Given the description of an element on the screen output the (x, y) to click on. 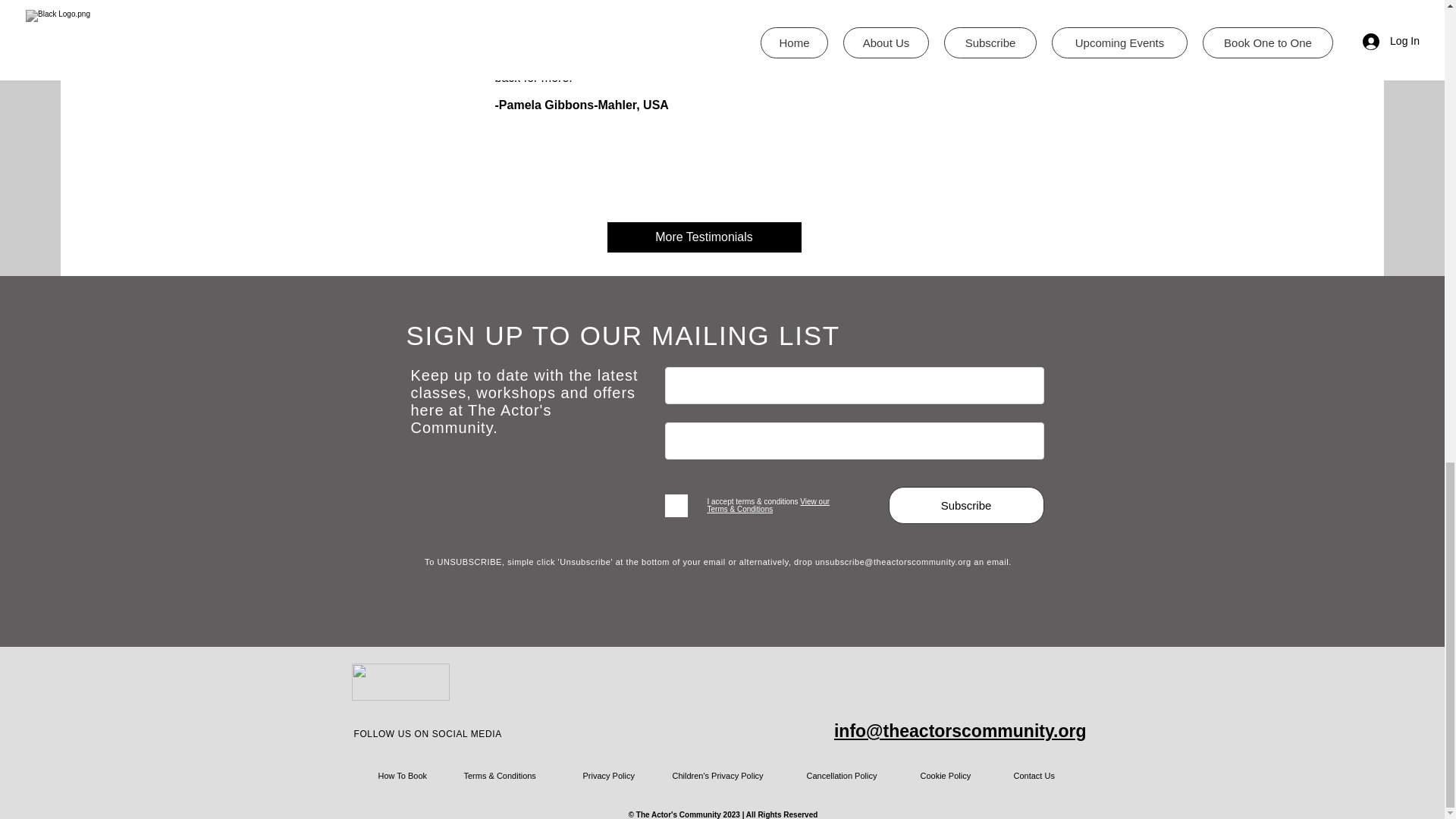
Cookie Policy (946, 775)
More Testimonials (703, 236)
Privacy Policy (608, 775)
Contact Us (1034, 775)
How To Book (402, 775)
AC Black logo.png (400, 682)
Subscribe (965, 505)
Cancellation Policy (843, 775)
Children's Privacy Policy (719, 775)
